Given the description of an element on the screen output the (x, y) to click on. 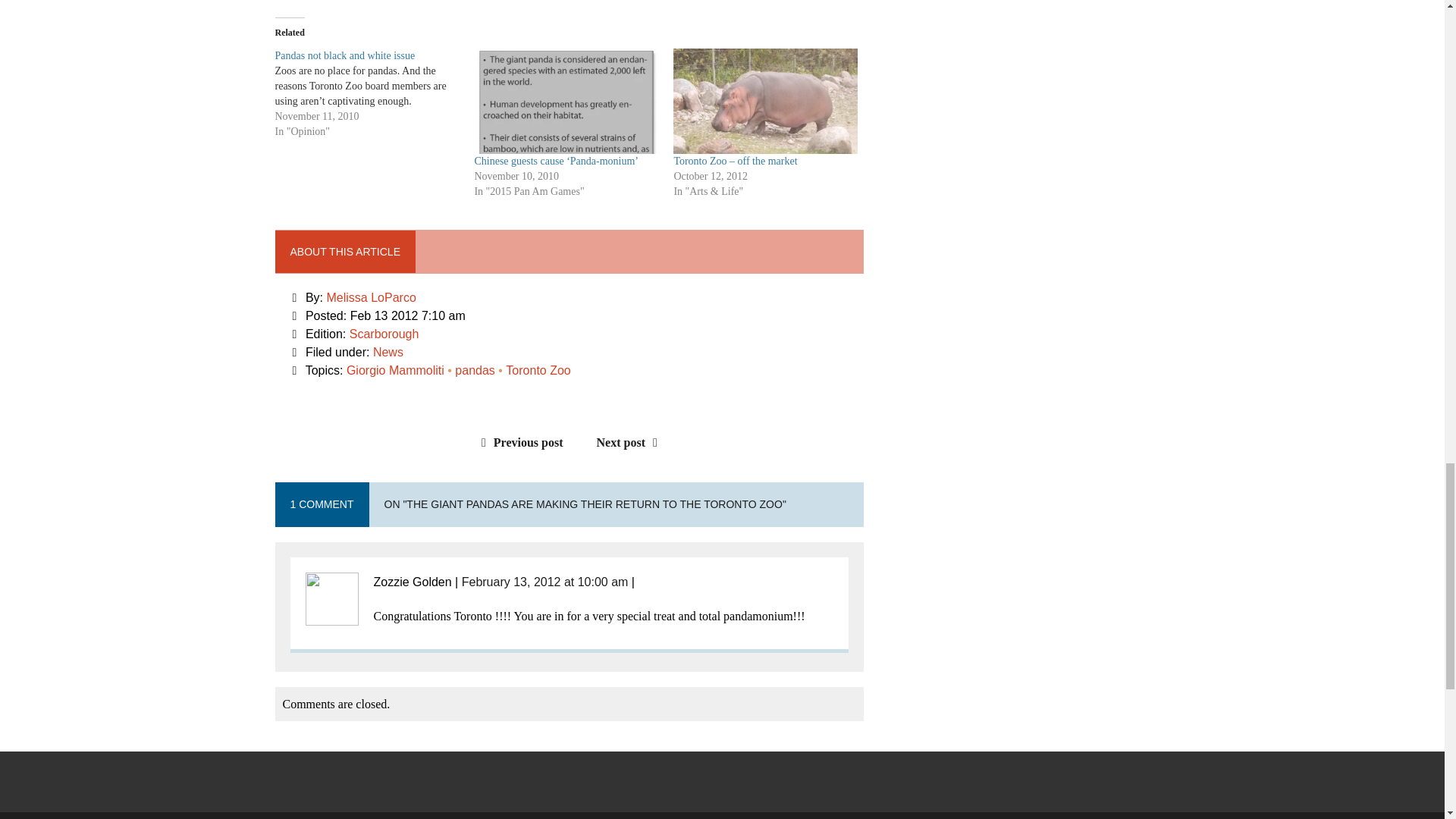
Melissa LoParco (371, 297)
Pandas not black and white issue (374, 93)
Pandas not black and white issue (344, 55)
